Given the description of an element on the screen output the (x, y) to click on. 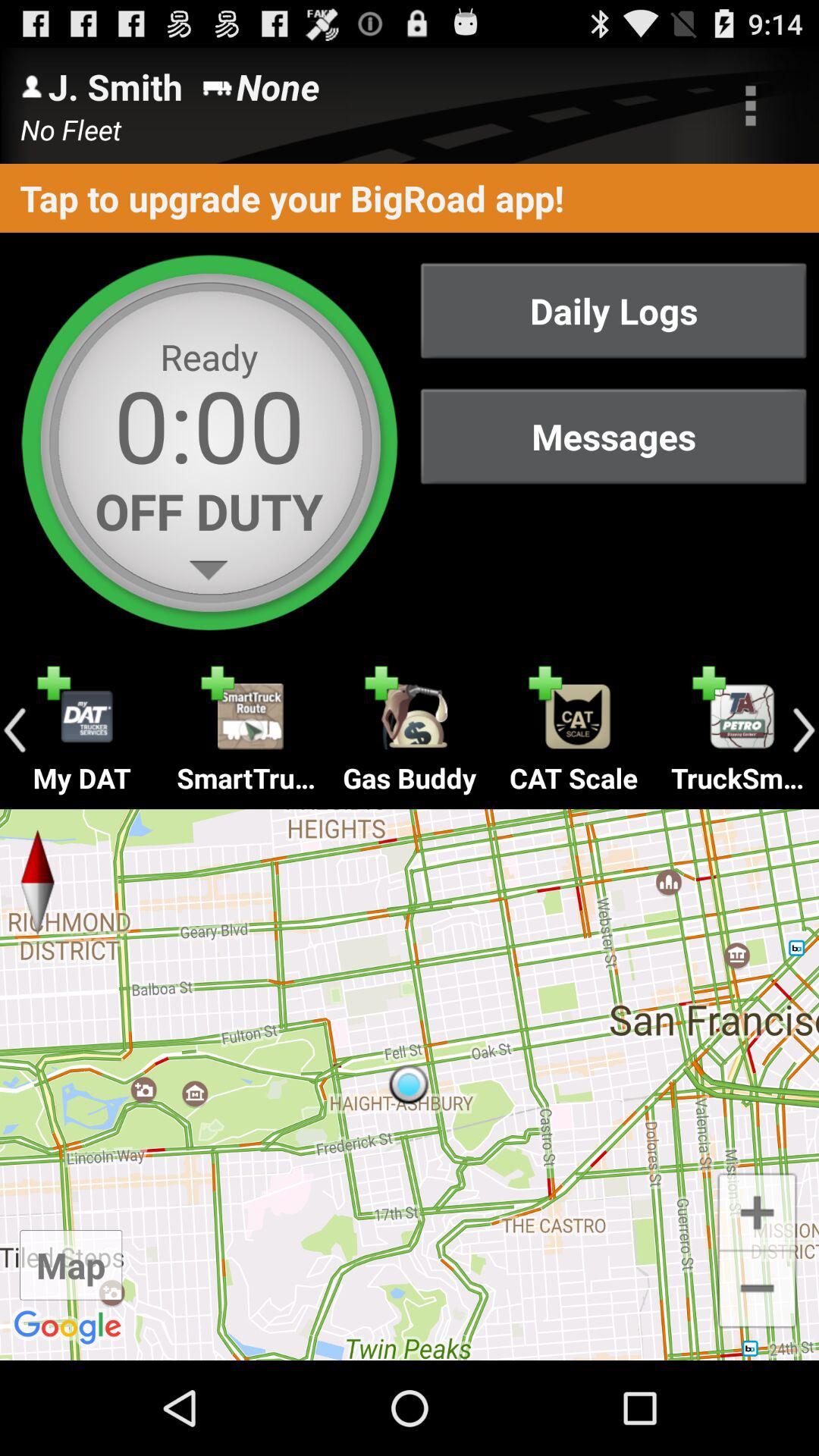
zoom out the map (757, 1290)
